Given the description of an element on the screen output the (x, y) to click on. 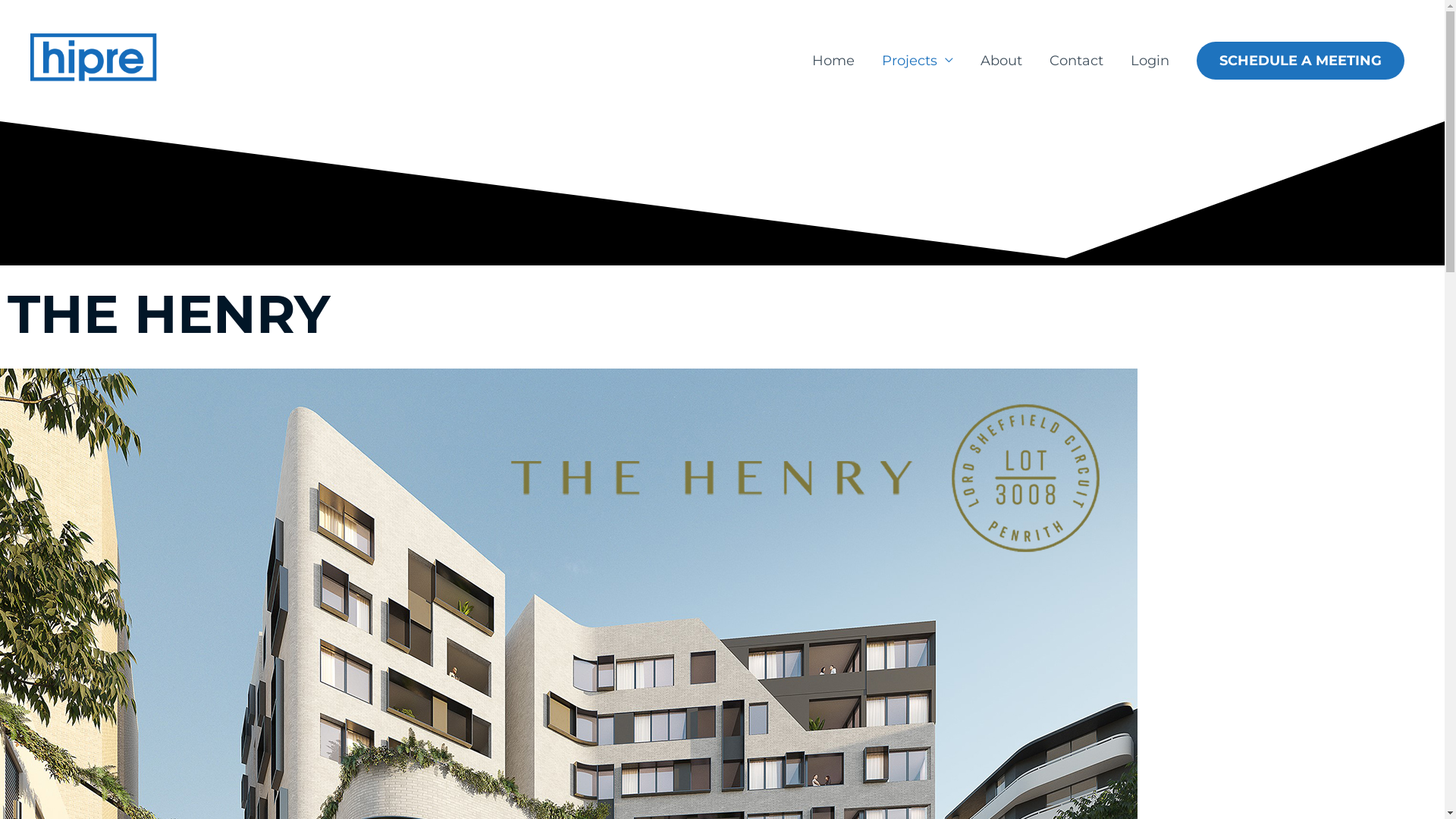
Home Element type: text (833, 60)
Contact Element type: text (1076, 60)
About Element type: text (1000, 60)
Login Element type: text (1150, 60)
SCHEDULE A MEETING Element type: text (1300, 60)
Projects Element type: text (917, 60)
